Given the description of an element on the screen output the (x, y) to click on. 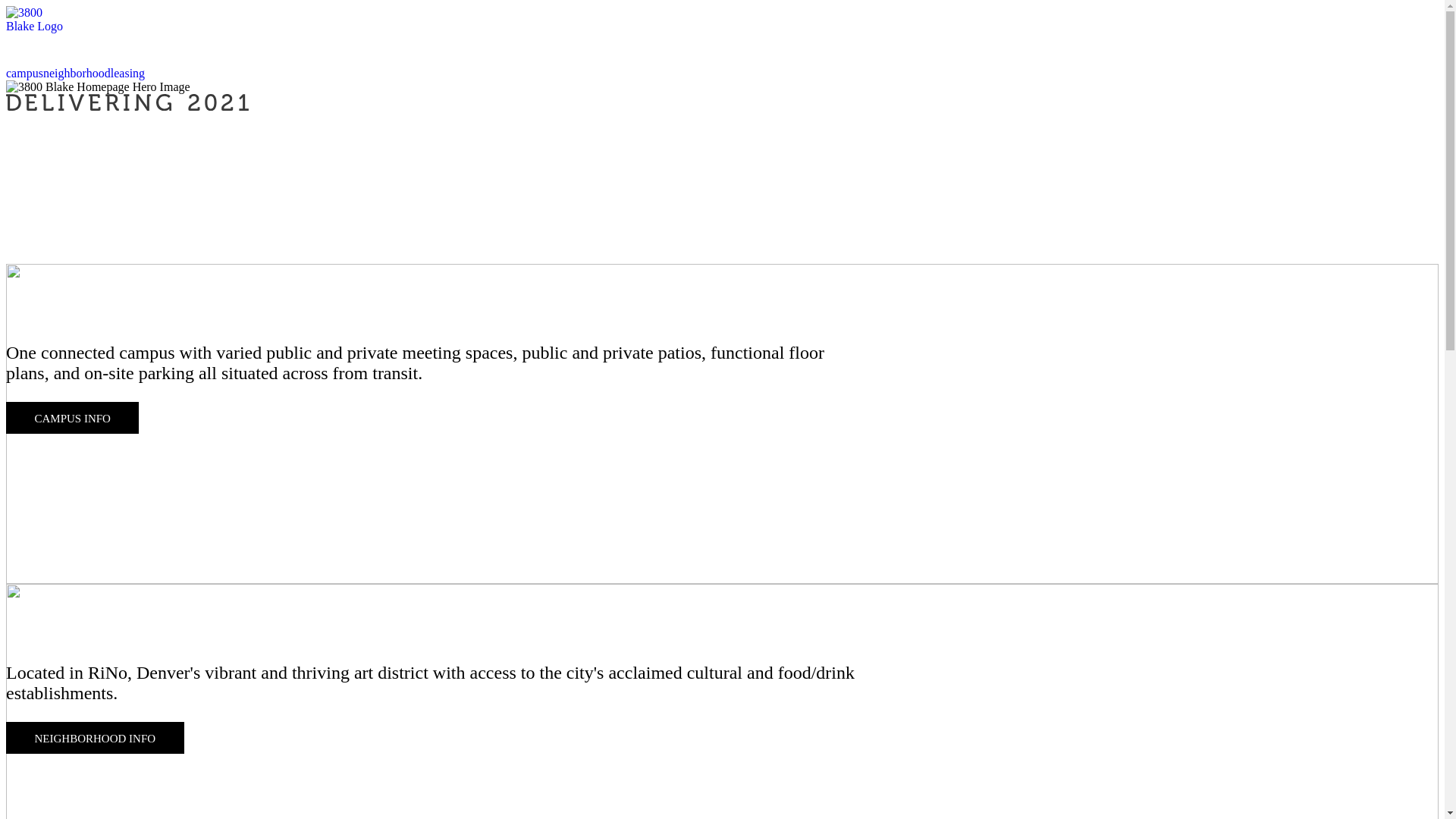
leasing Element type: text (127, 72)
NEIGHBORHOOD INFO Element type: text (95, 737)
CAMPUS INFO Element type: text (72, 417)
campus Element type: text (24, 72)
neighborhood Element type: text (76, 72)
